Given the description of an element on the screen output the (x, y) to click on. 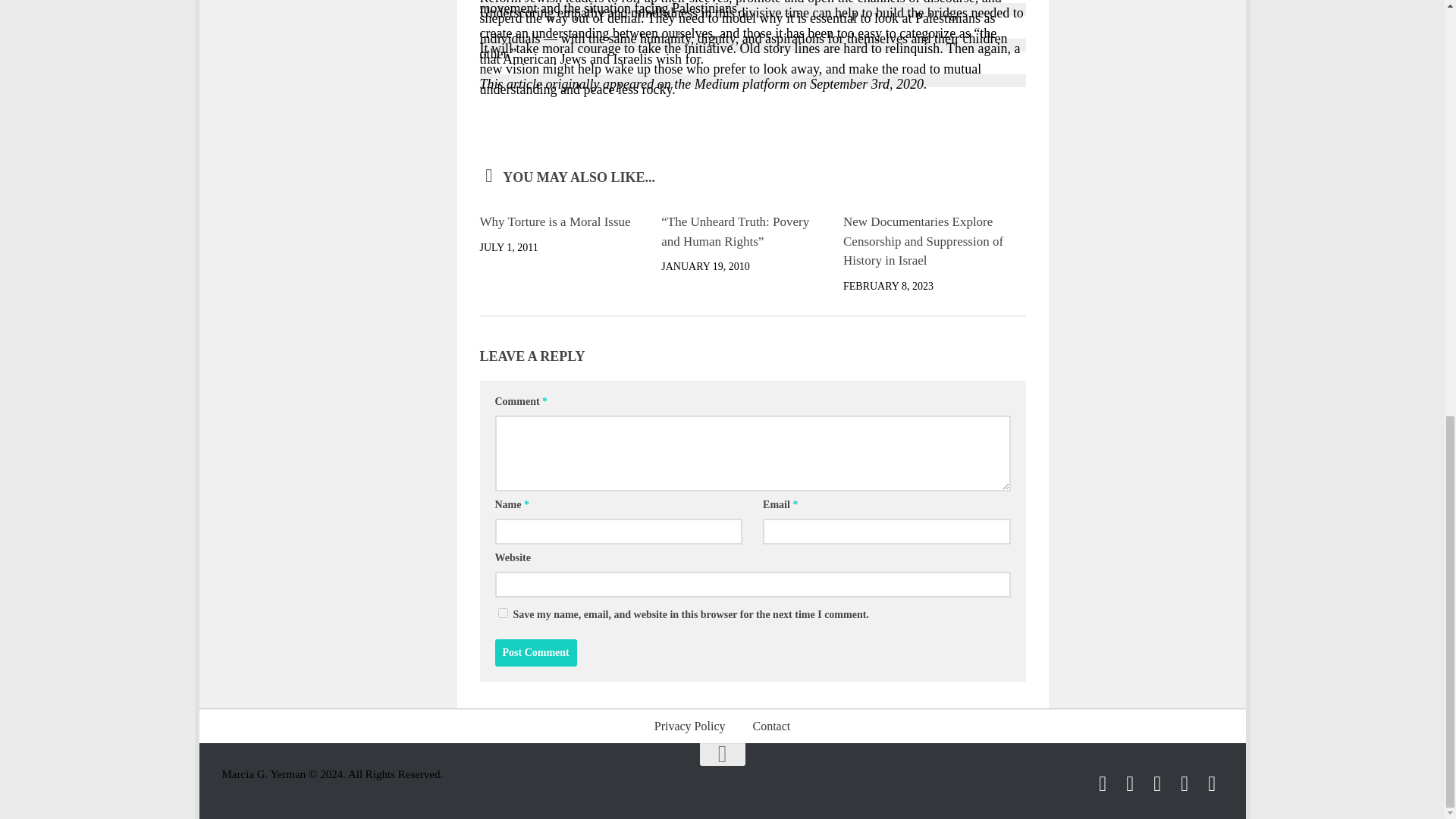
Connect with me on Twitter (1102, 783)
Post Comment (535, 652)
yes (501, 613)
